Given the description of an element on the screen output the (x, y) to click on. 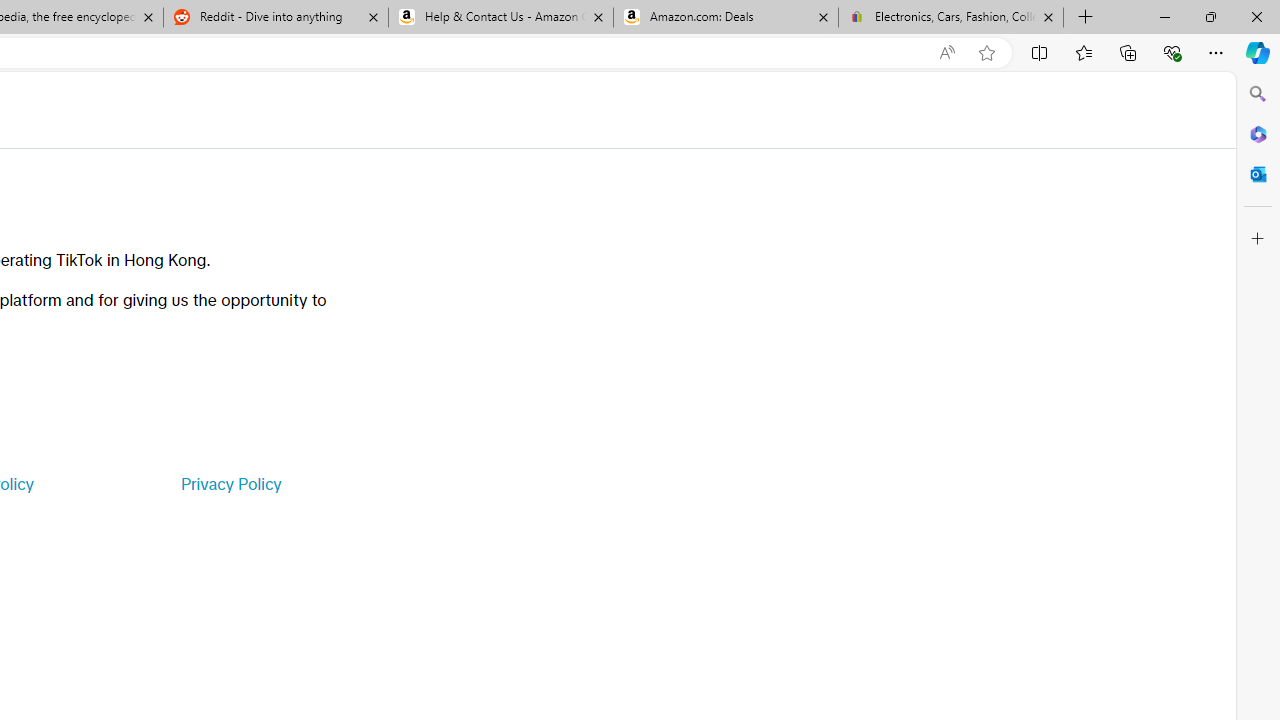
Amazon.com: Deals (726, 17)
